Given the description of an element on the screen output the (x, y) to click on. 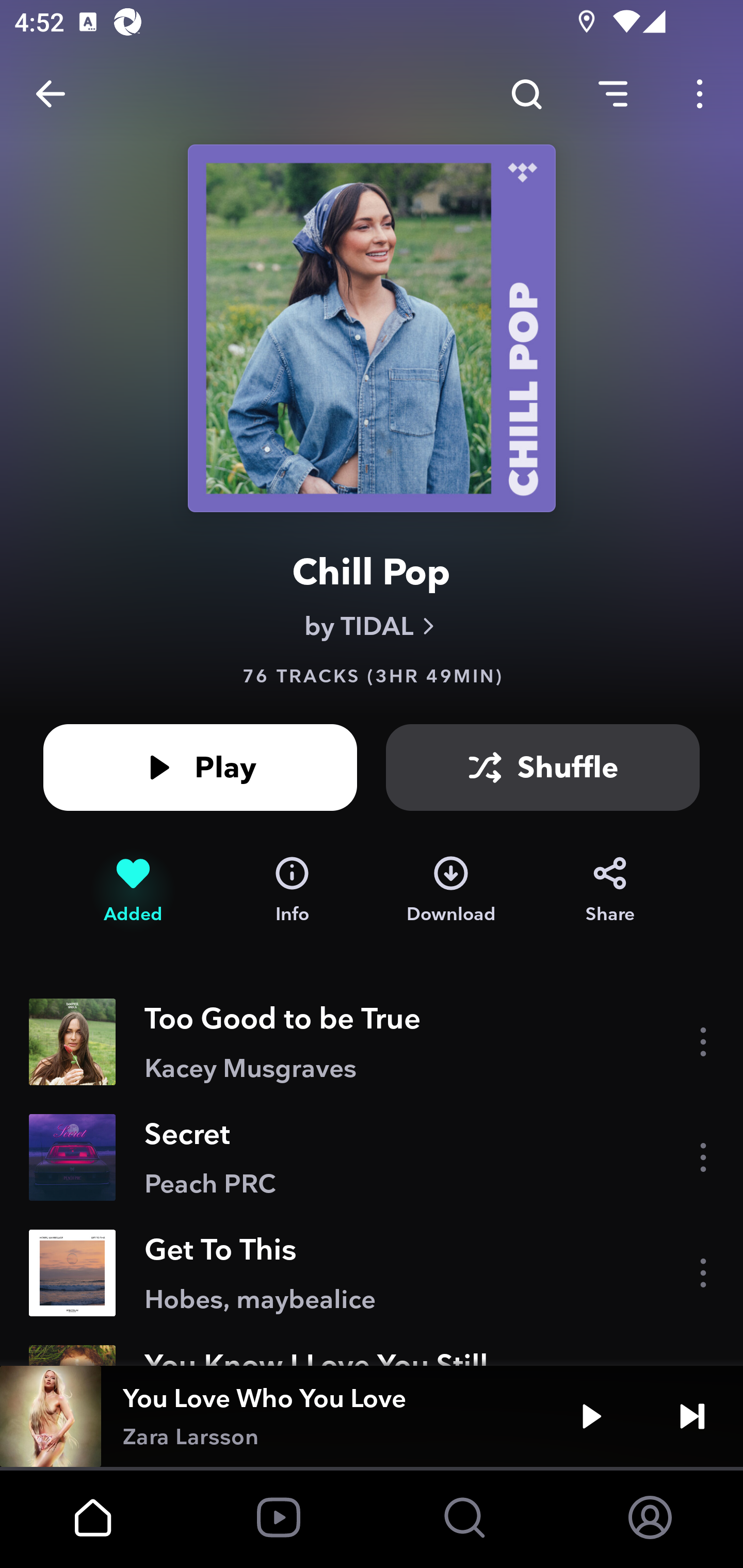
Back (50, 93)
Search (525, 93)
Sorting (612, 93)
Options (699, 93)
by TIDAL (371, 625)
Play (200, 767)
Shuffle (542, 767)
Added (132, 890)
Info (291, 890)
Download (450, 890)
Share (609, 890)
Too Good to be True Kacey Musgraves (371, 1041)
Secret Peach PRC (371, 1157)
Get To This Hobes, maybealice (371, 1273)
You Love Who You Love Zara Larsson Play (371, 1416)
Play (590, 1416)
